Given the description of an element on the screen output the (x, y) to click on. 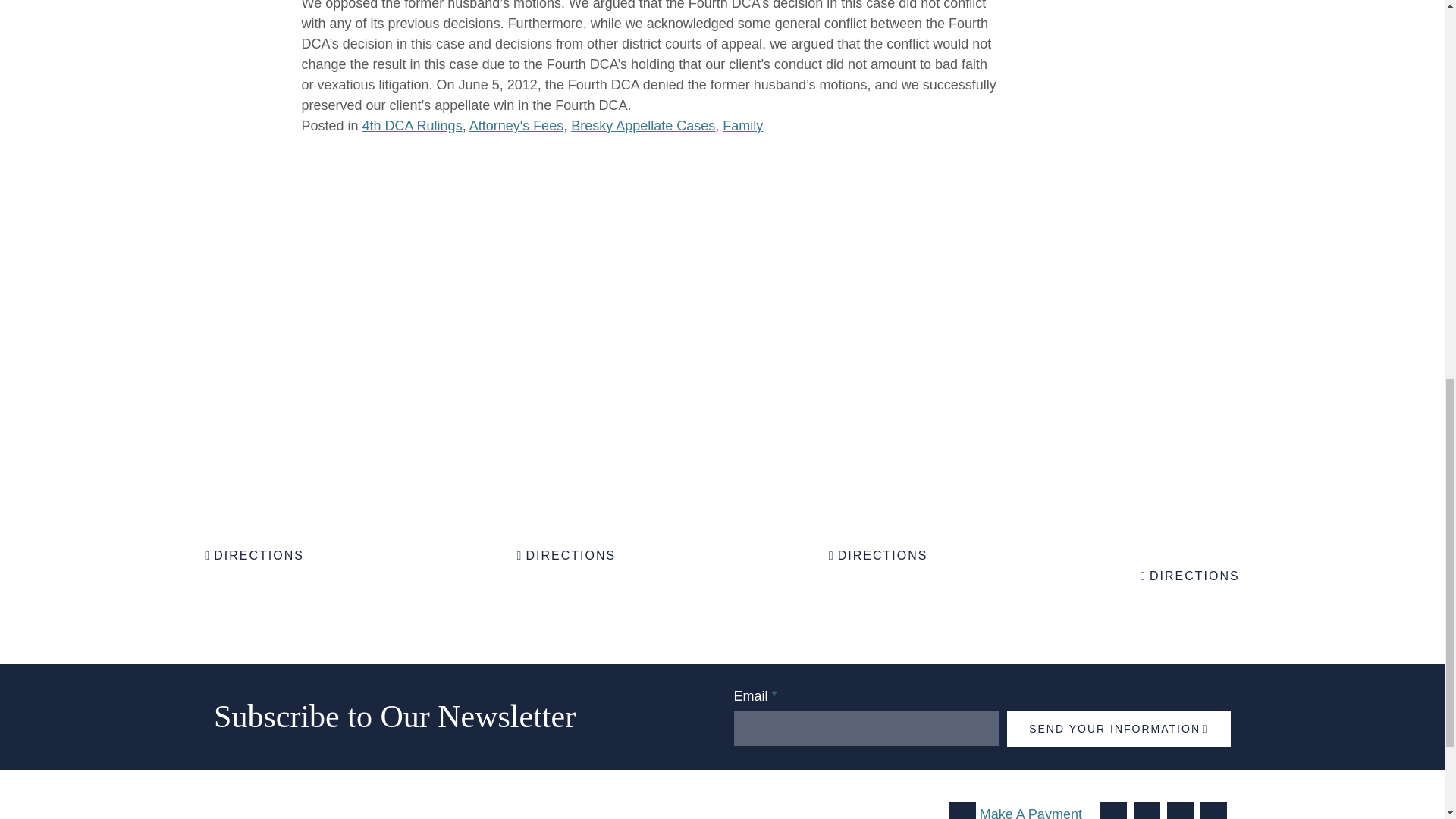
Attorney's Fees (516, 125)
Bresky Appellate Cases (642, 125)
4th DCA Rulings (412, 125)
